Given the description of an element on the screen output the (x, y) to click on. 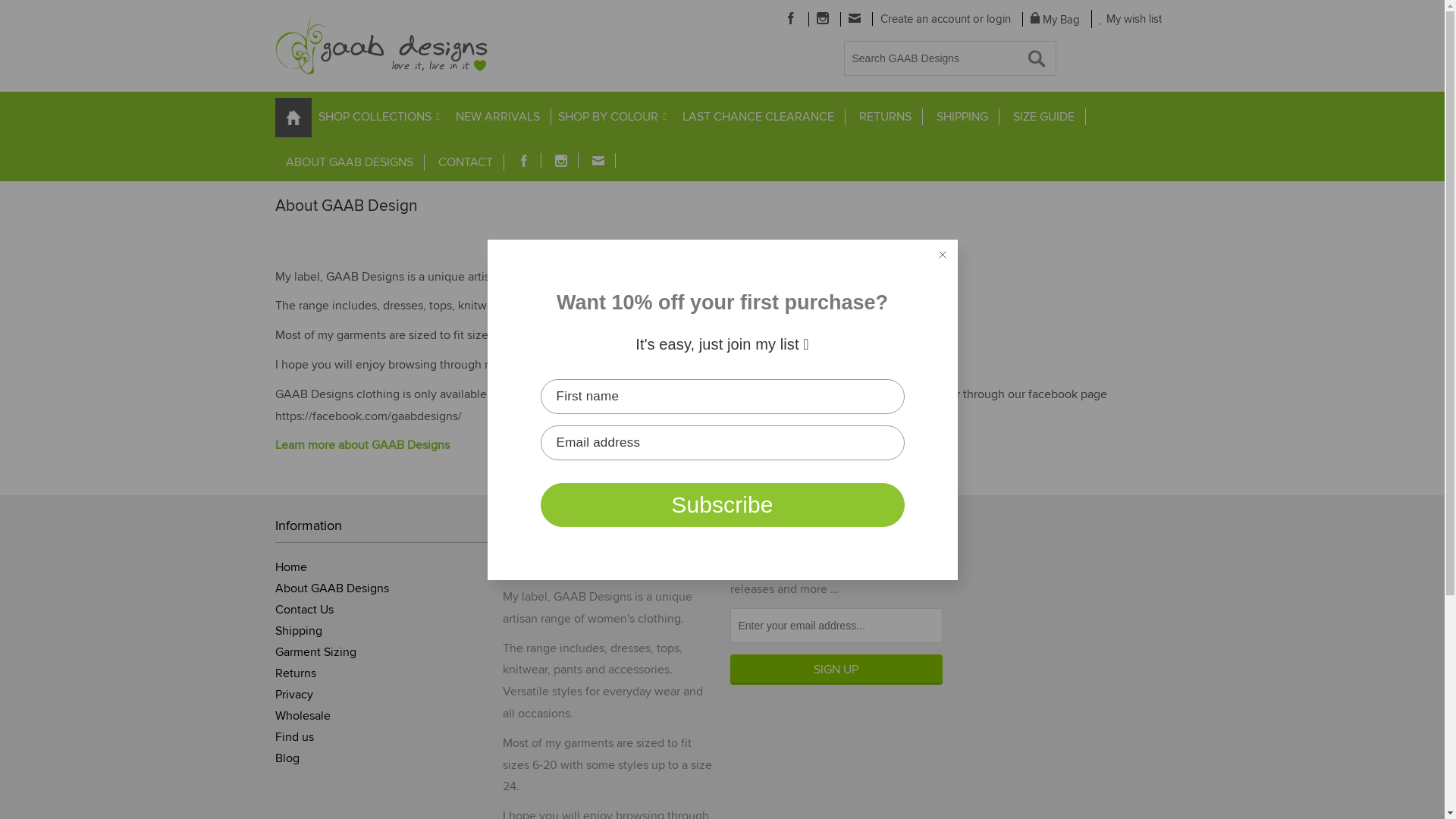
SHIPPING Element type: text (961, 116)
Sign Up Element type: text (835, 669)
My wish list Element type: text (1131, 18)
Blog Element type: text (286, 757)
Learn more about GAAB Designs Element type: text (361, 444)
Find us Element type: text (293, 736)
Email GAAB Designs Element type: hover (854, 18)
Contact Us Element type: text (303, 609)
ABOUT GAAB DESIGNS Element type: text (348, 161)
GAAB Designs Element type: hover (380, 45)
GAAB Designs on Instagram Element type: hover (822, 18)
GAAB Designs on Instagram Element type: hover (561, 160)
LAST CHANCE CLEARANCE Element type: text (758, 116)
Garment Sizing Element type: text (314, 651)
CONTACT Element type: text (465, 161)
Privacy Element type: text (293, 694)
My Bag Element type: text (1054, 19)
Returns Element type: text (294, 672)
GAAB Designs on Facebook Element type: hover (523, 160)
Wholesale Element type: text (301, 715)
Search Element type: text (38, 15)
Email GAAB Designs Element type: hover (597, 160)
Home Element type: text (290, 566)
SIZE GUIDE Element type: text (1043, 116)
Shipping Element type: text (297, 630)
About GAAB Designs Element type: text (331, 588)
RETURNS Element type: text (884, 116)
GAAB Designs on Facebook Element type: hover (790, 18)
Create an account or login Element type: text (945, 18)
NEW ARRIVALS Element type: text (497, 116)
